Given the description of an element on the screen output the (x, y) to click on. 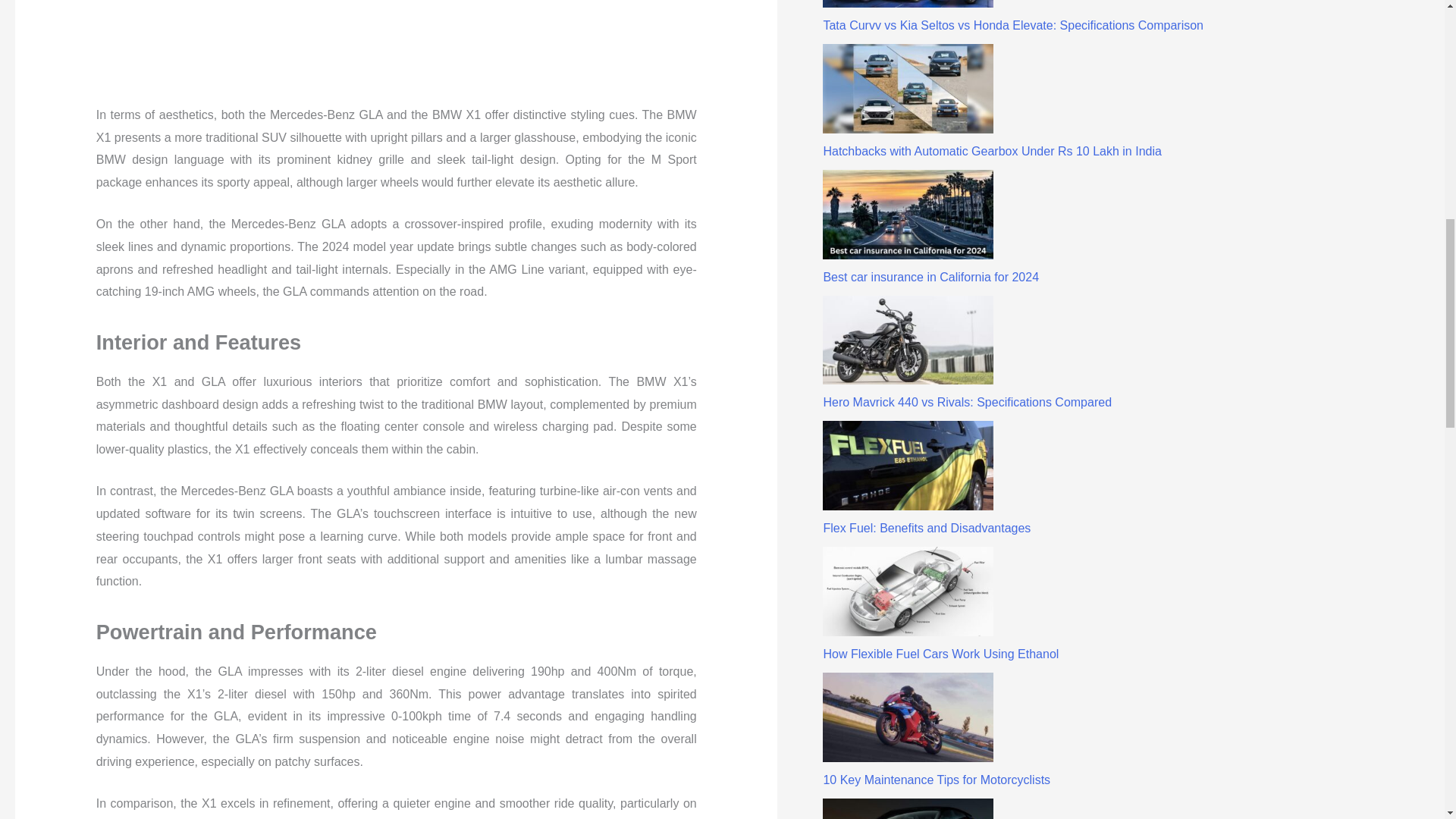
Advertisement (371, 45)
